Given the description of an element on the screen output the (x, y) to click on. 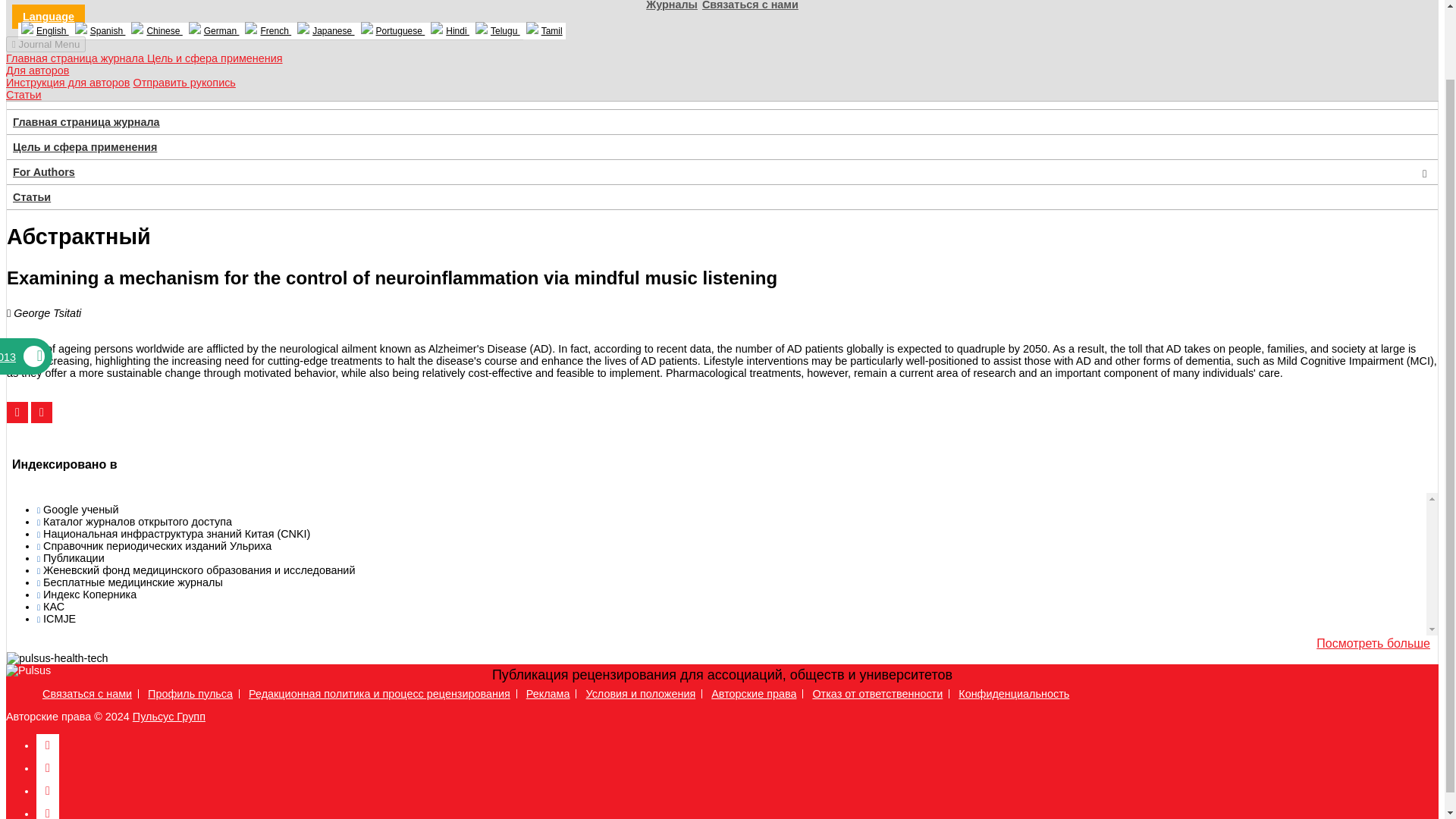
English (44, 31)
Journal Menu (45, 44)
Chinese (156, 31)
Hindi (449, 31)
Portuguese (393, 31)
French (267, 31)
Portuguese (393, 31)
German (214, 31)
Hindi (449, 31)
French (267, 31)
German (214, 31)
Chinese (156, 31)
Language (47, 16)
Tamil (544, 30)
Spanish (100, 31)
